Given the description of an element on the screen output the (x, y) to click on. 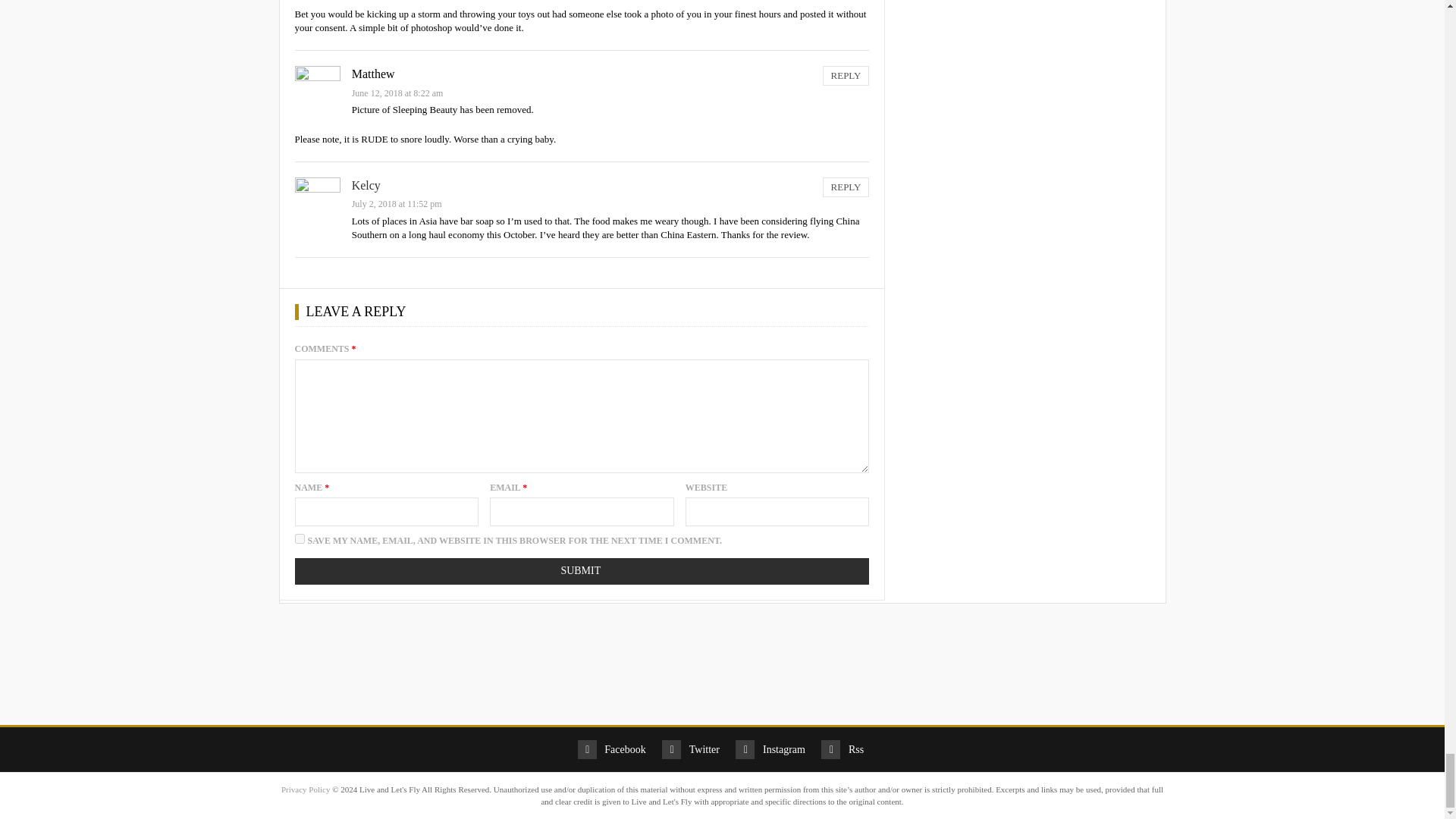
yes (299, 538)
Submit  (581, 570)
